Given the description of an element on the screen output the (x, y) to click on. 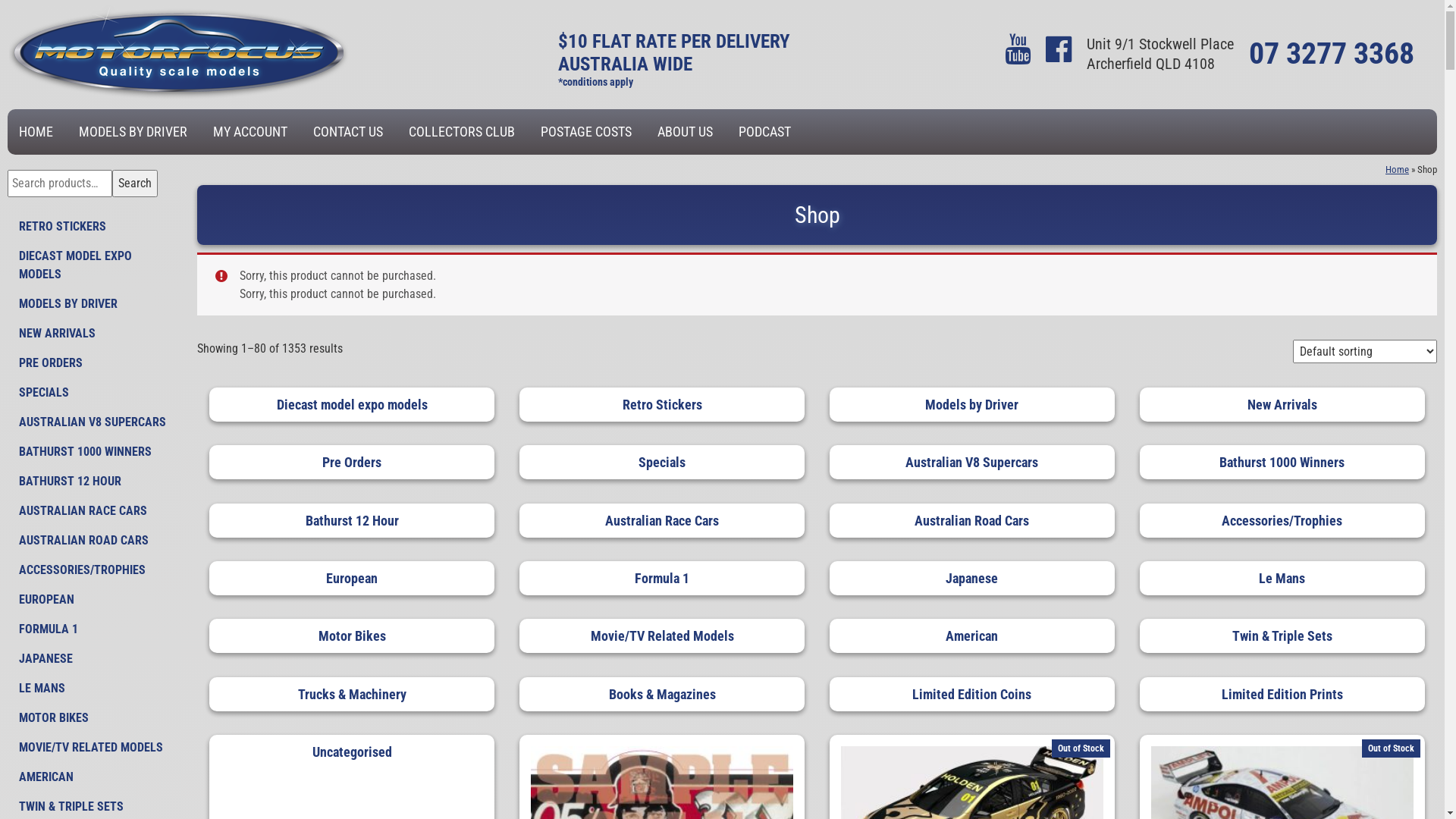
RETRO STICKERS Element type: text (94, 226)
07 3277 3368 Element type: text (1331, 53)
BATHURST 12 HOUR Element type: text (94, 481)
ABOUT US Element type: text (685, 131)
Twin & Triple Sets Element type: text (1281, 635)
Search Element type: text (134, 183)
Limited Edition Coins Element type: text (971, 694)
PRE ORDERS Element type: text (94, 362)
AUSTRALIAN ROAD CARS Element type: text (94, 540)
COLLECTORS CLUB Element type: text (461, 131)
CONTACT US Element type: text (347, 131)
DIECAST MODEL EXPO MODELS Element type: text (94, 264)
Trucks & Machinery Element type: text (351, 694)
Models by Driver Element type: text (971, 404)
MODELS BY DRIVER Element type: text (132, 131)
FORMULA 1 Element type: text (94, 629)
Movie/TV Related Models Element type: text (661, 635)
American Element type: text (971, 635)
Australian Road Cars Element type: text (971, 520)
European Element type: text (351, 578)
BATHURST 1000 WINNERS Element type: text (94, 451)
Uncategorised Element type: text (351, 751)
Pre Orders Element type: text (351, 462)
Le Mans Element type: text (1281, 578)
AUSTRALIAN V8 SUPERCARS Element type: text (94, 421)
POSTAGE COSTS Element type: text (586, 131)
SPECIALS Element type: text (94, 392)
MOTOR BIKES Element type: text (94, 717)
MODELS BY DRIVER Element type: text (94, 303)
Motor Bikes Element type: text (351, 635)
ACCESSORIES/TROPHIES Element type: text (94, 569)
HOME Element type: text (35, 131)
EUROPEAN Element type: text (94, 599)
Formula 1 Element type: text (661, 578)
Accessories/Trophies Element type: text (1281, 520)
MY ACCOUNT Element type: text (249, 131)
Australian V8 Supercars Element type: text (971, 462)
Bathurst 1000 Winners Element type: text (1281, 462)
LE MANS Element type: text (94, 688)
Specials Element type: text (661, 462)
PODCAST Element type: text (764, 131)
Home Element type: text (1396, 169)
Retro Stickers Element type: text (661, 404)
Books & Magazines Element type: text (661, 694)
JAPANESE Element type: text (94, 658)
Limited Edition Prints Element type: text (1281, 694)
AMERICAN Element type: text (94, 776)
AUSTRALIAN RACE CARS Element type: text (94, 510)
Australian Race Cars Element type: text (661, 520)
MOVIE/TV RELATED MODELS Element type: text (94, 747)
Bathurst 12 Hour Element type: text (351, 520)
Diecast model expo models Element type: text (351, 404)
New Arrivals Element type: text (1281, 404)
NEW ARRIVALS Element type: text (94, 333)
Japanese Element type: text (971, 578)
